Given the description of an element on the screen output the (x, y) to click on. 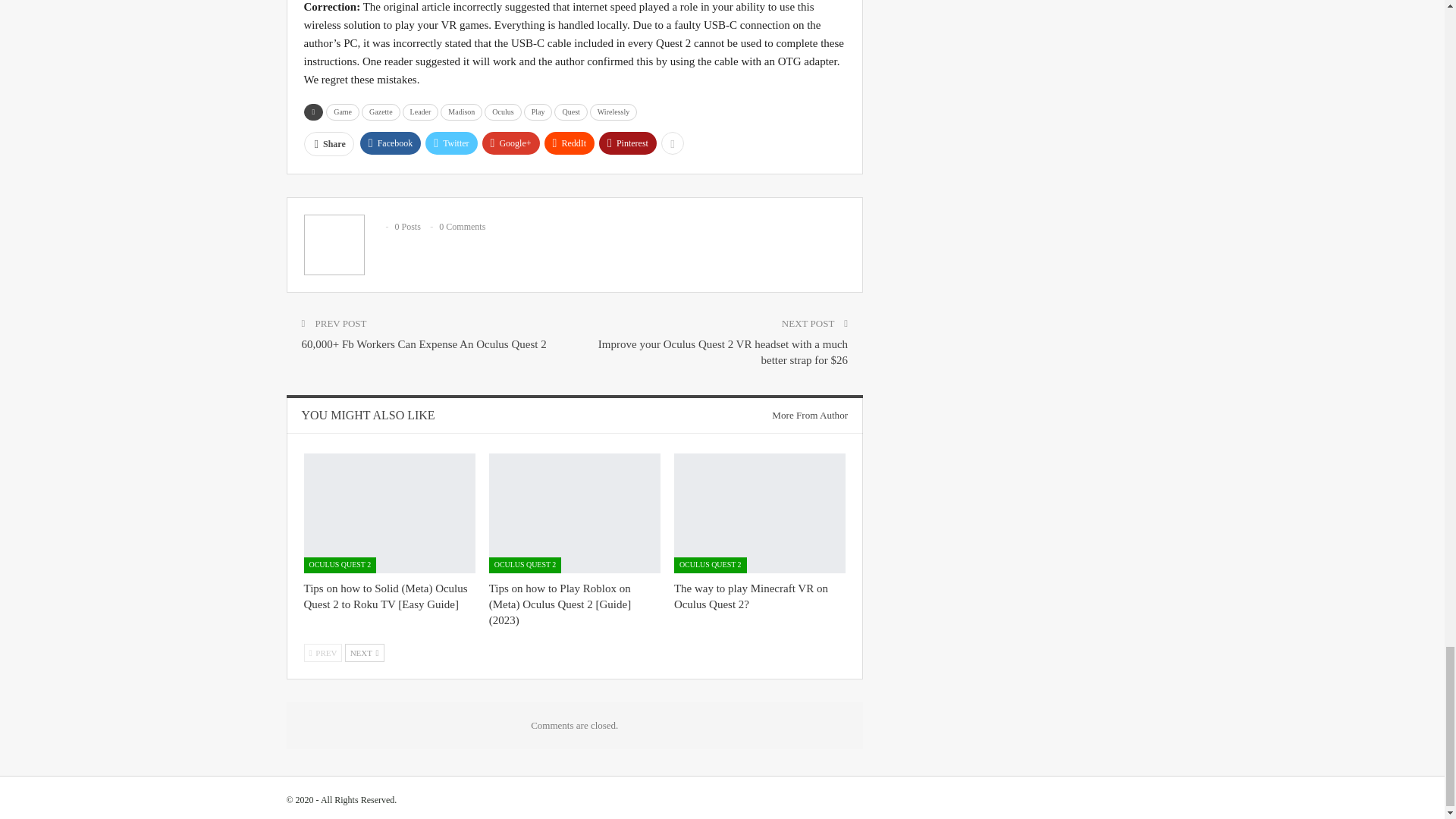
Leader (421, 112)
Previous (322, 652)
ReddIt (569, 142)
Facebook (390, 142)
Gazette (380, 112)
Game (342, 112)
Twitter (451, 142)
Quest (570, 112)
Madison (461, 112)
Next (364, 652)
